Given the description of an element on the screen output the (x, y) to click on. 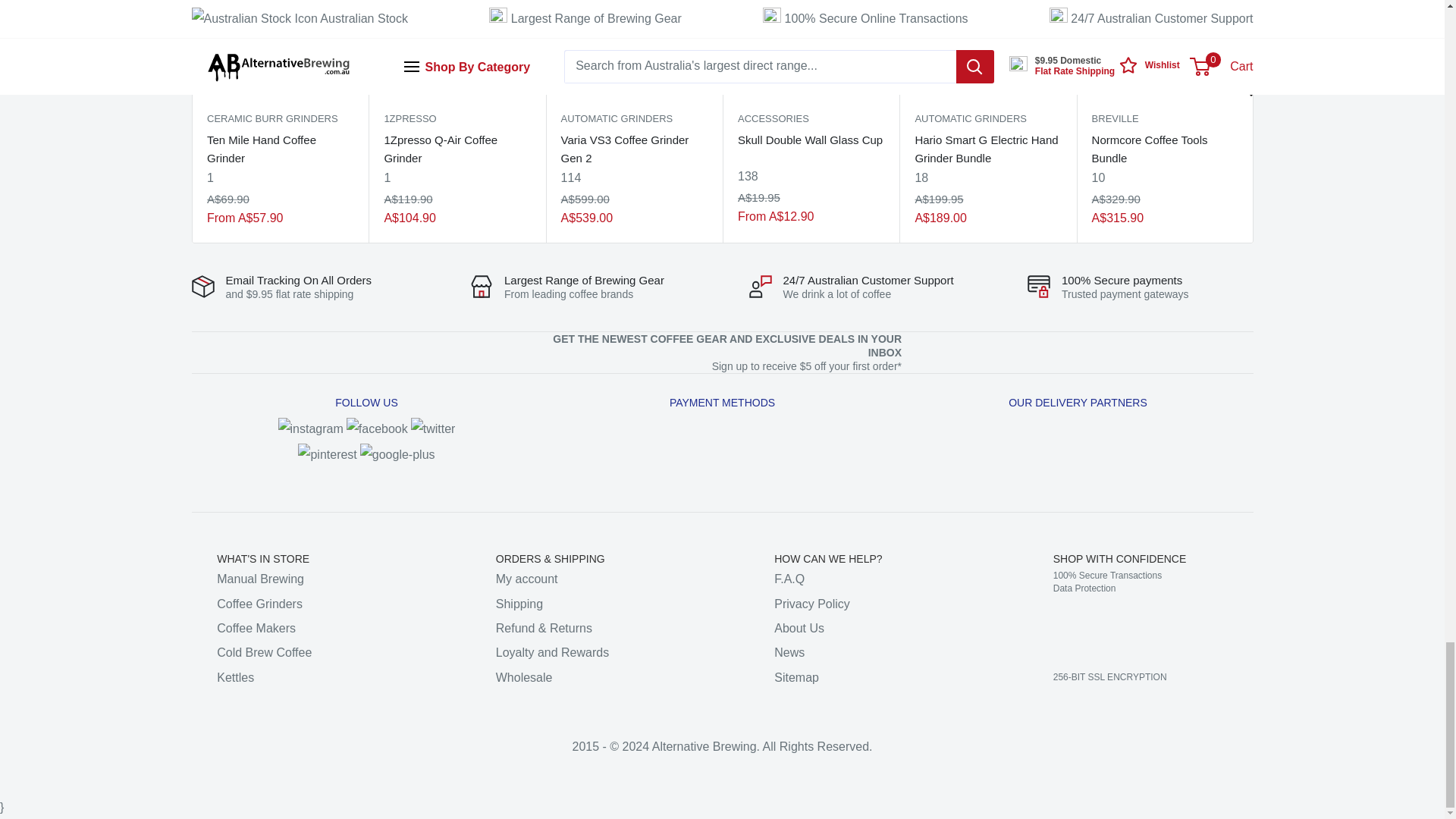
Accessories (809, 118)
1Zpresso (456, 118)
Ceramic Burr Grinders (279, 118)
Automatic Grinders (633, 118)
Breville (1163, 118)
Automatic Grinders (987, 118)
